Given the description of an element on the screen output the (x, y) to click on. 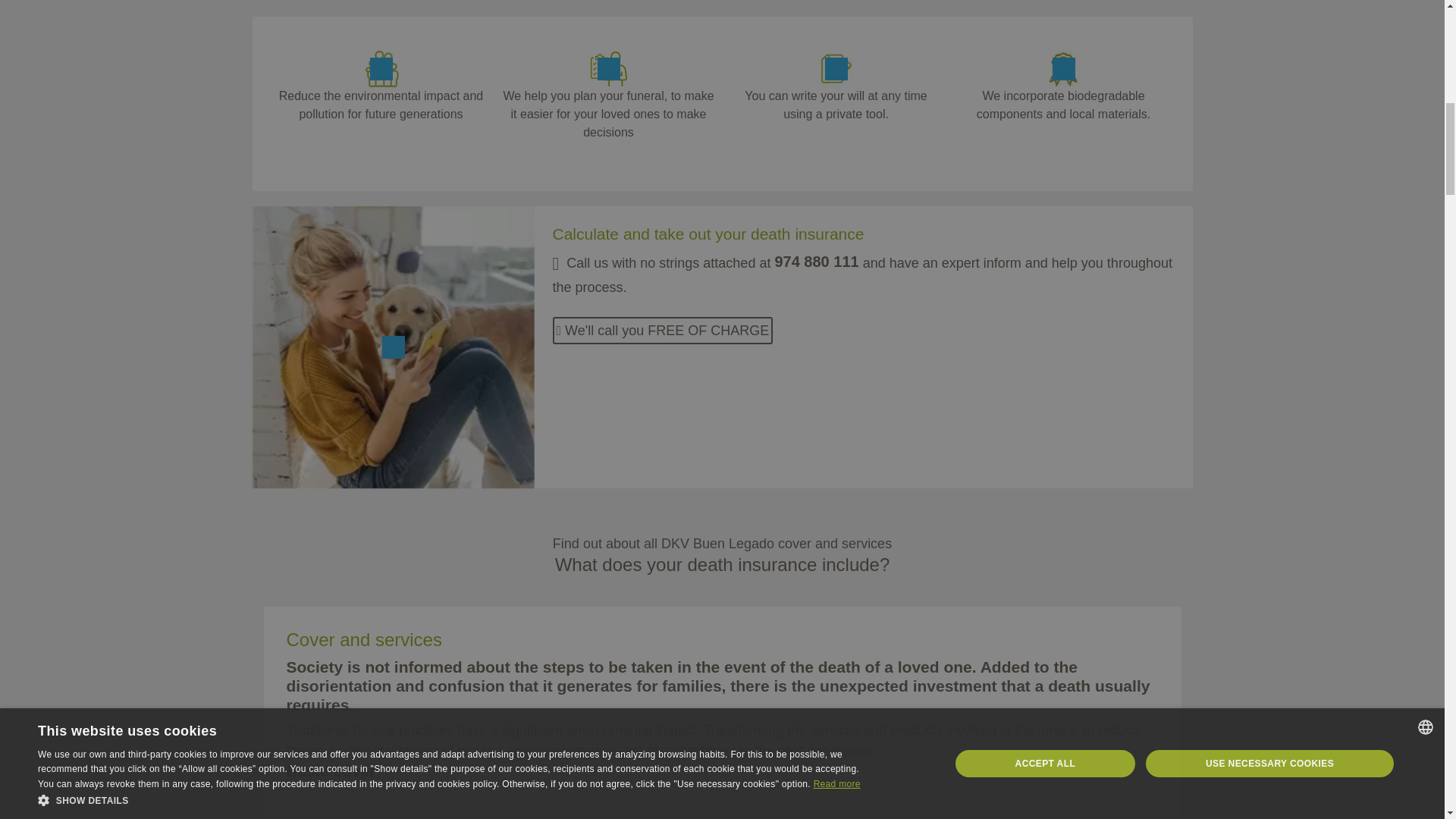
974 880 111 (816, 261)
We'll call you FREE OF CHARGE (662, 329)
